Given the description of an element on the screen output the (x, y) to click on. 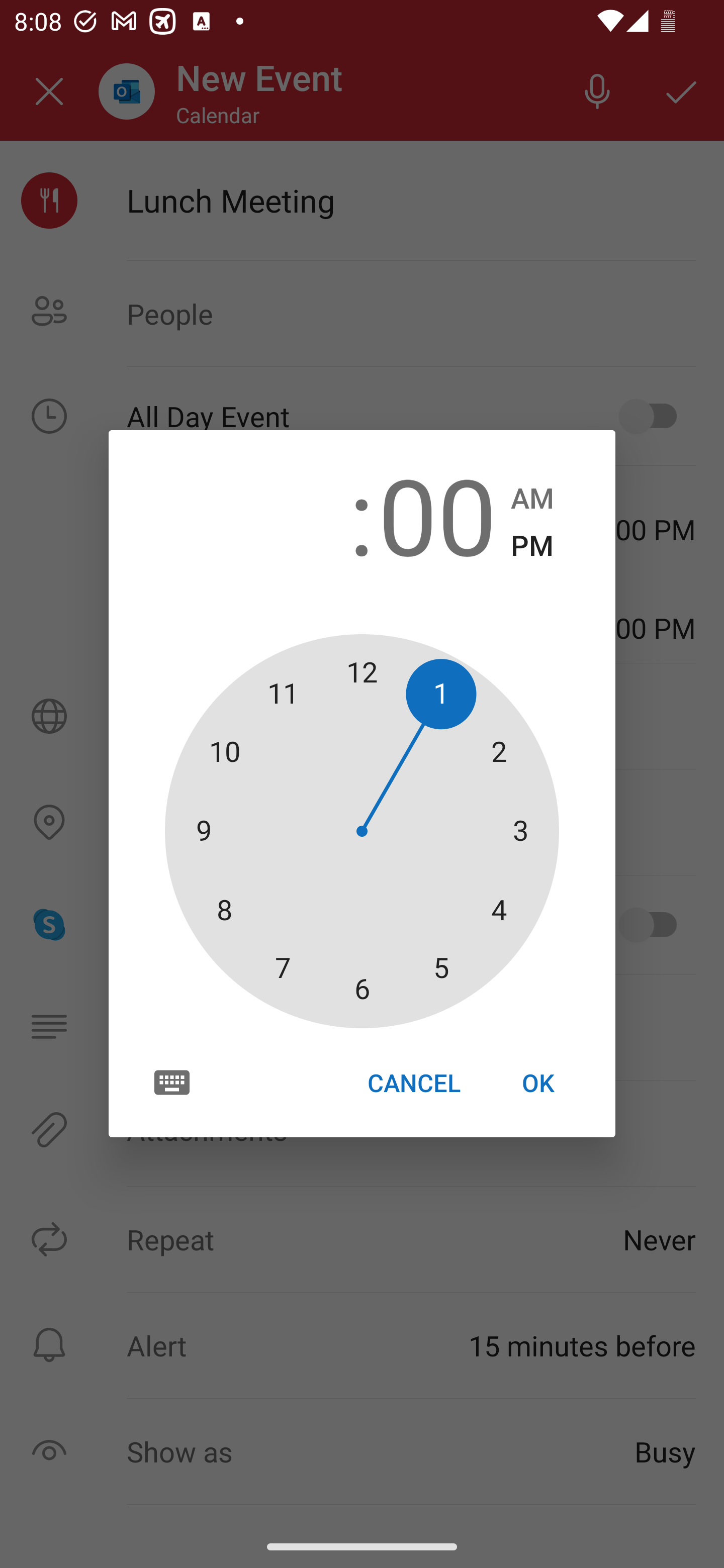
1 (285, 513)
00 (436, 513)
AM (532, 498)
PM (532, 546)
CANCEL (413, 1082)
OK (537, 1082)
Switch to text input mode for the time input. (171, 1081)
